Given the description of an element on the screen output the (x, y) to click on. 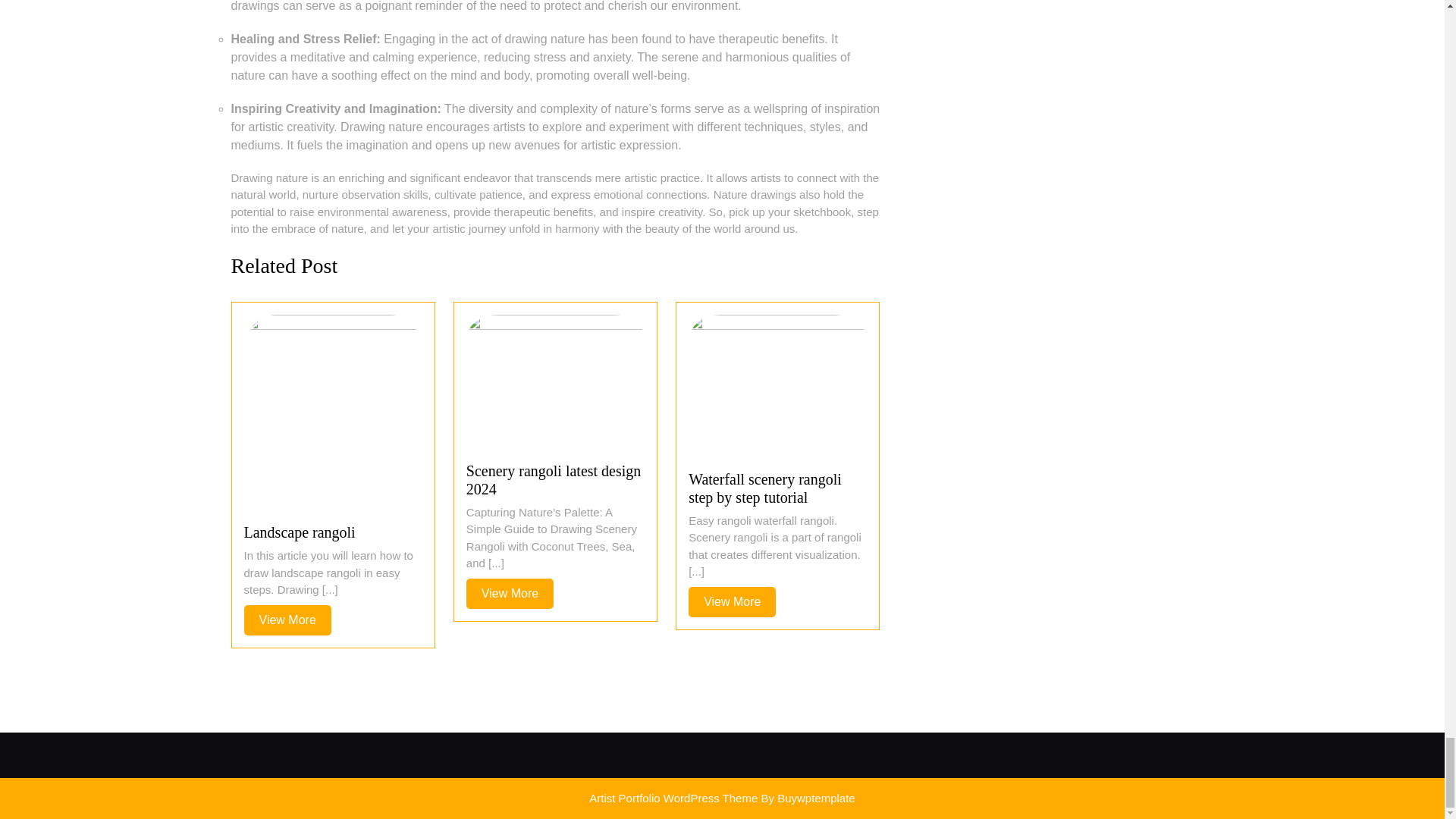
Artist Portfolio WordPress Theme (509, 593)
